Given the description of an element on the screen output the (x, y) to click on. 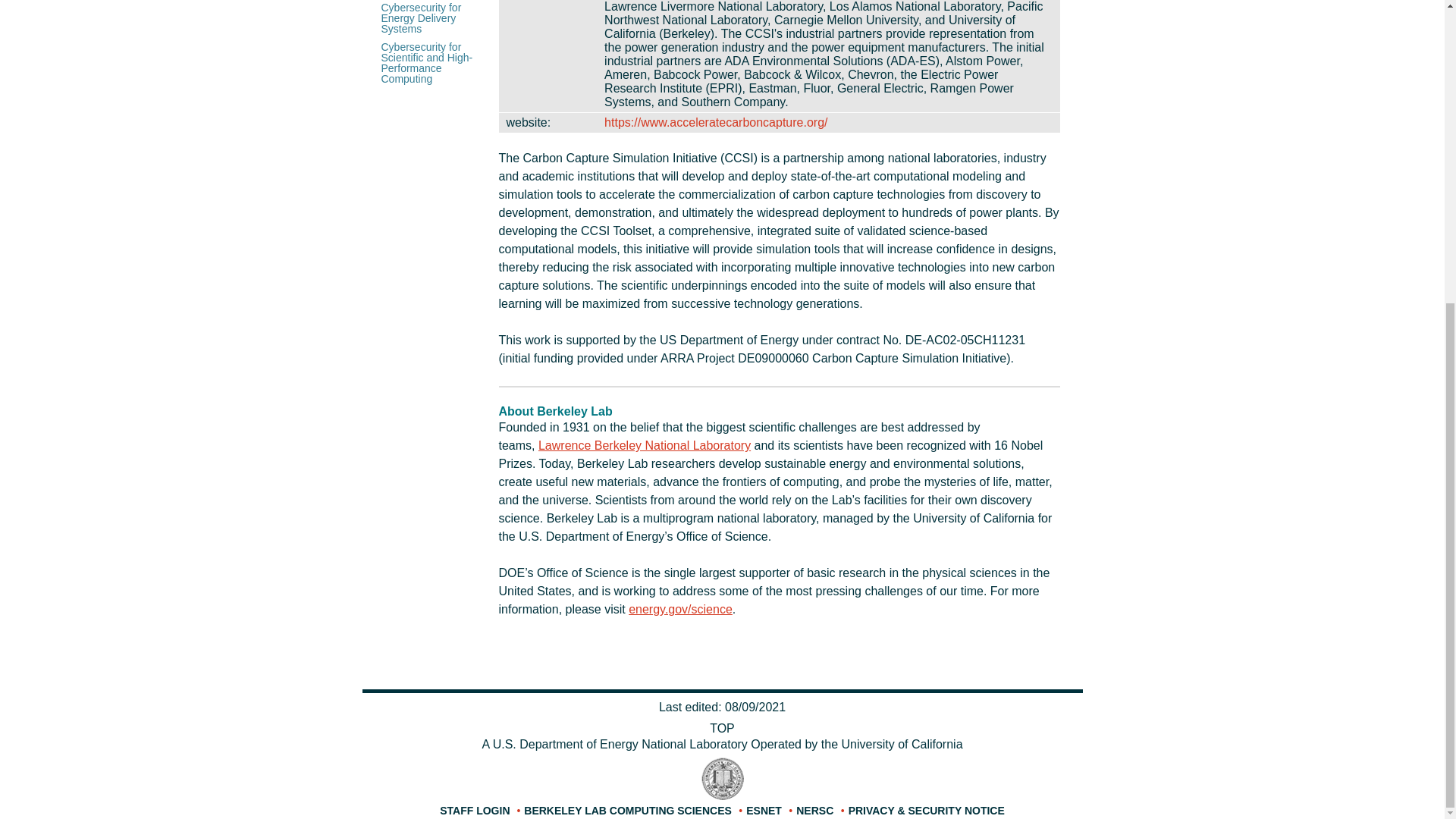
Login (474, 810)
